Given the description of an element on the screen output the (x, y) to click on. 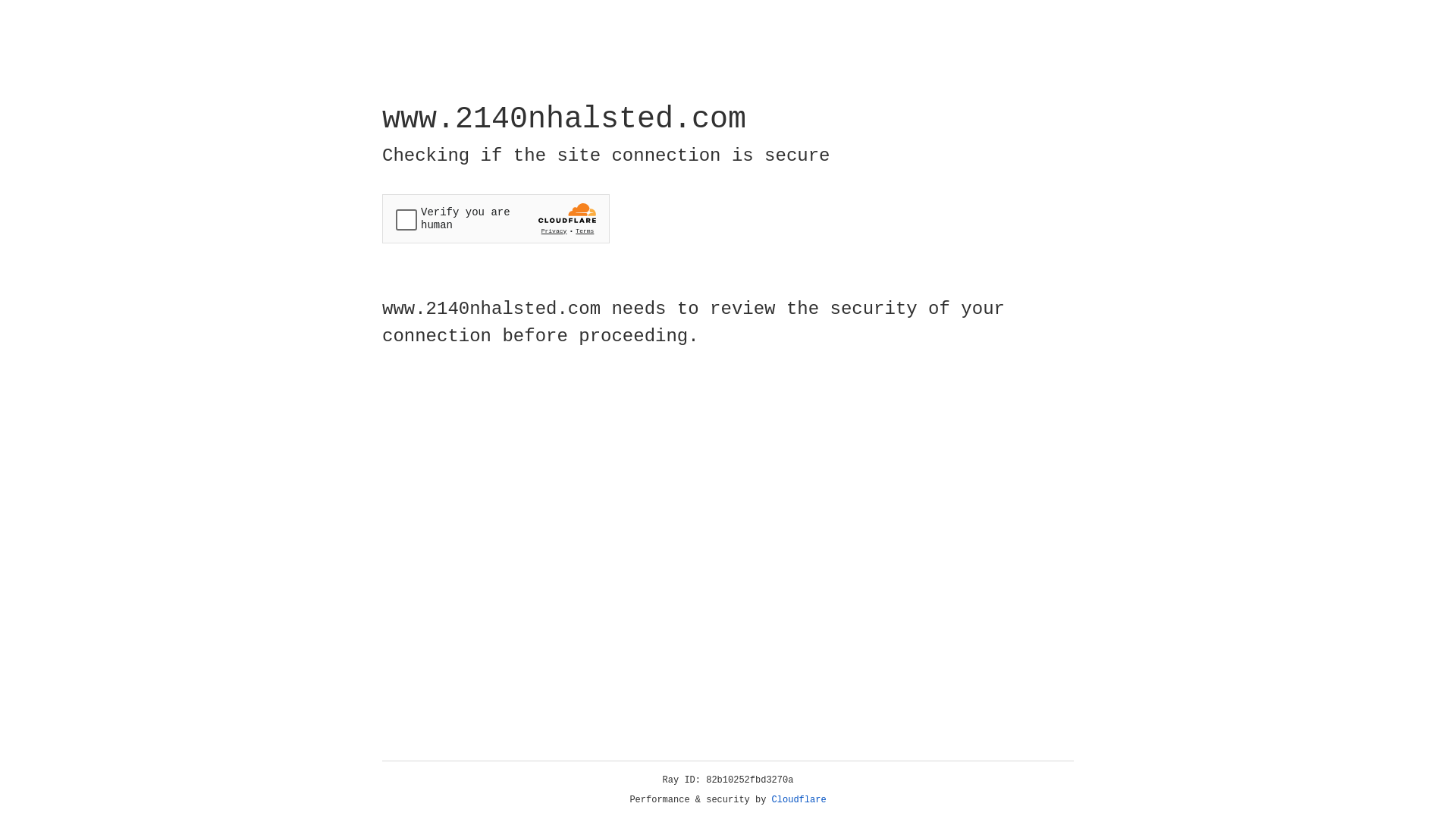
Cloudflare Element type: text (798, 799)
Widget containing a Cloudflare security challenge Element type: hover (495, 218)
